Given the description of an element on the screen output the (x, y) to click on. 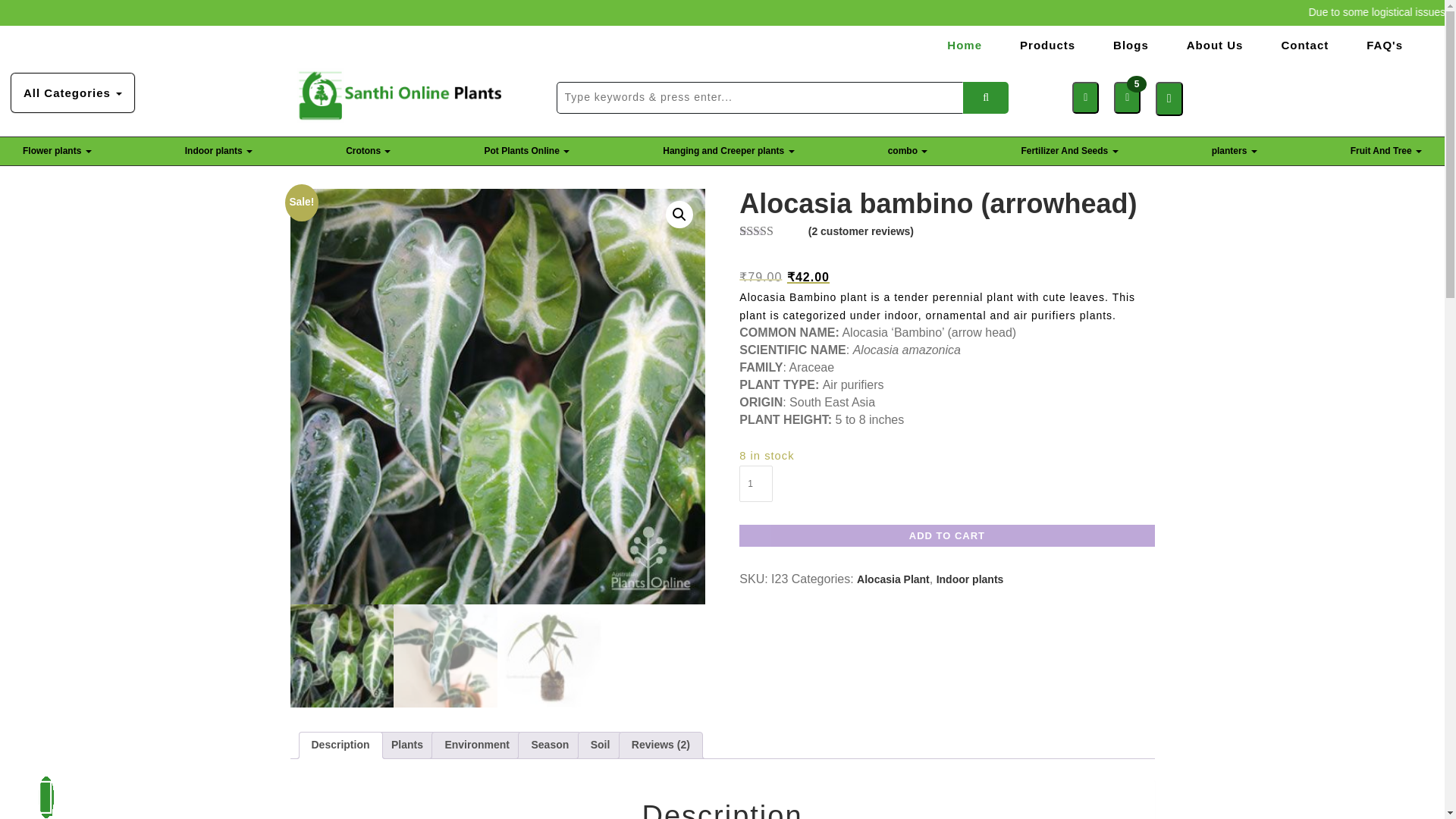
FAQ's (1384, 44)
1 (756, 484)
All Categories (72, 92)
Blogs (1130, 44)
Qty (756, 484)
Products (1047, 44)
Contact (1304, 44)
About Us (1214, 44)
product (985, 97)
